Given the description of an element on the screen output the (x, y) to click on. 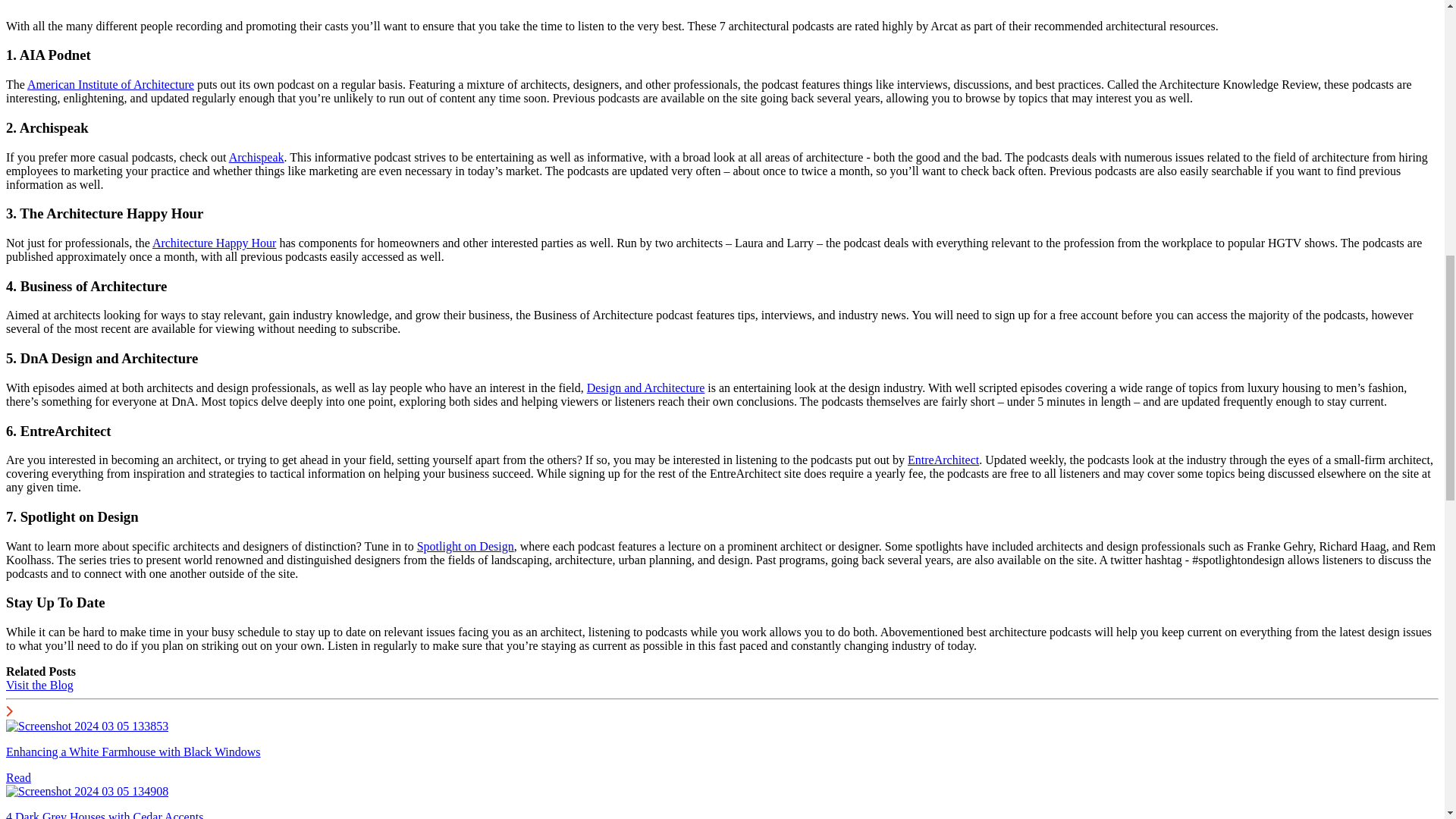
Design and Architecture (645, 387)
American Institute of Architecture (110, 83)
Spotlight on Design (464, 545)
Architecture Happy Hour (214, 242)
EntreArchitect (942, 459)
Archispeak (255, 156)
